Given the description of an element on the screen output the (x, y) to click on. 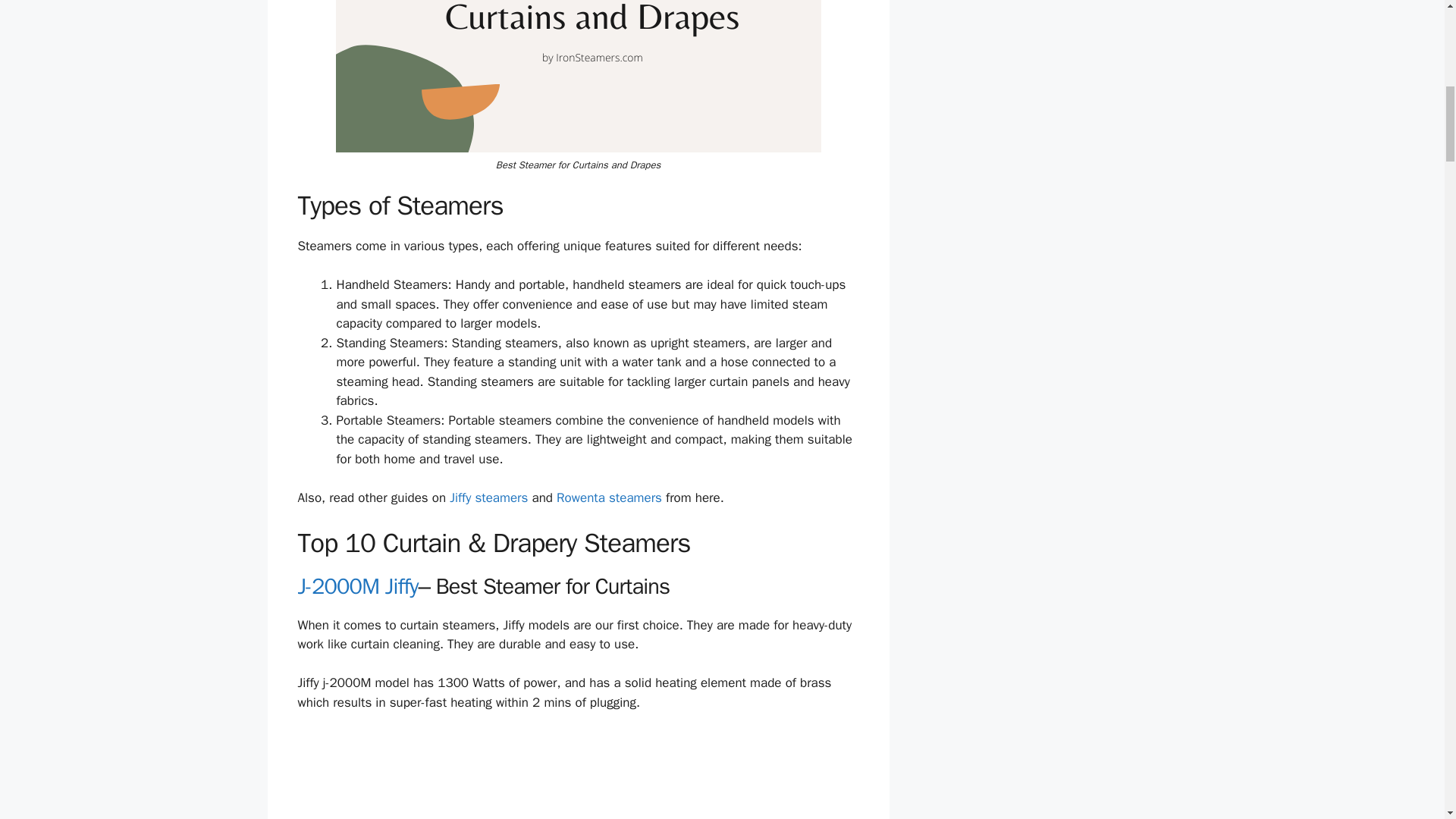
Rowenta steamers (609, 497)
J-2000M Jiffy (357, 586)
Jiffy steamers (488, 497)
